Given the description of an element on the screen output the (x, y) to click on. 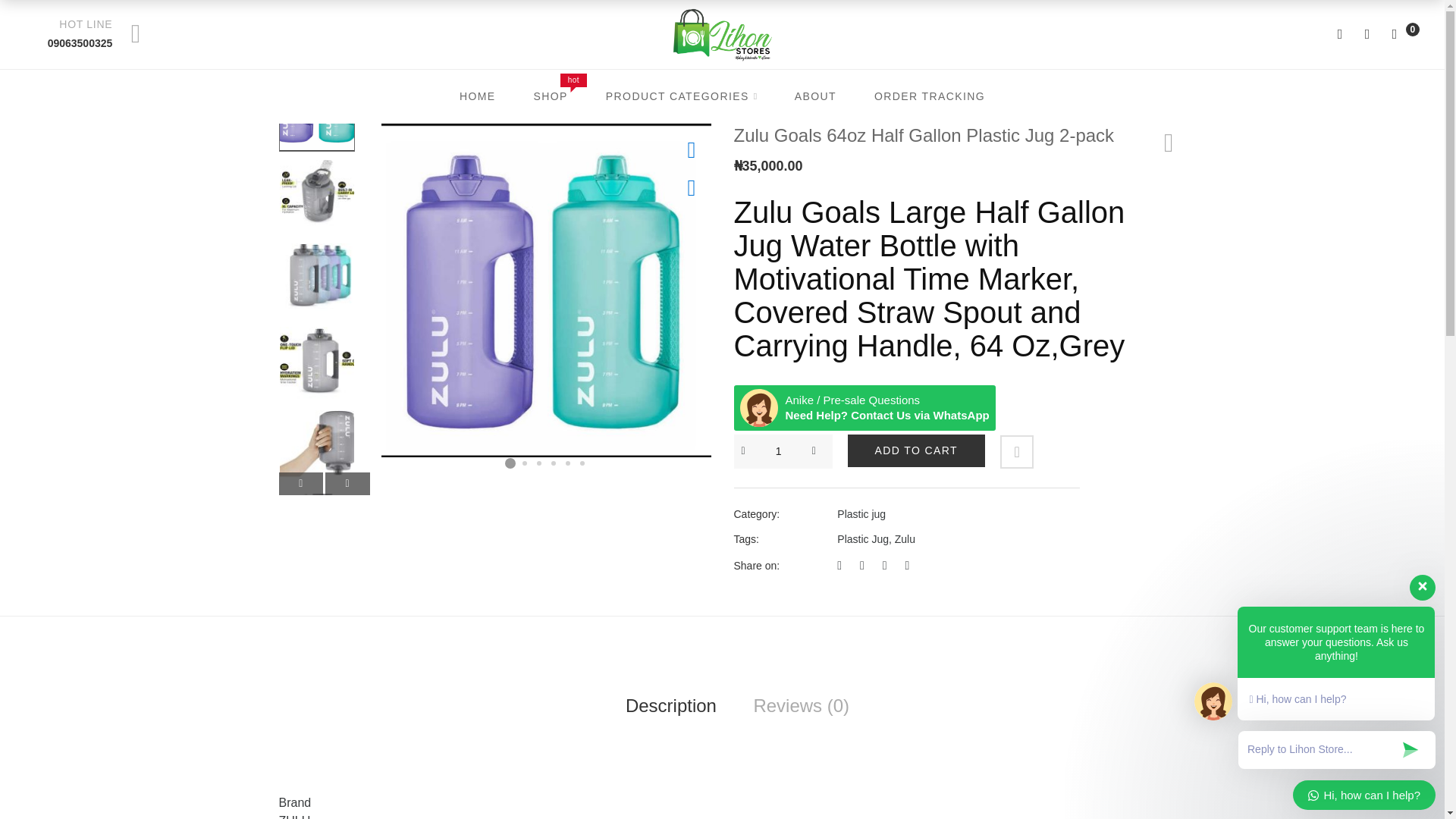
196670A4-9E1A-4228-963C-3C8F812065D6 (545, 290)
1 (778, 451)
09063500325 (80, 42)
